Given the description of an element on the screen output the (x, y) to click on. 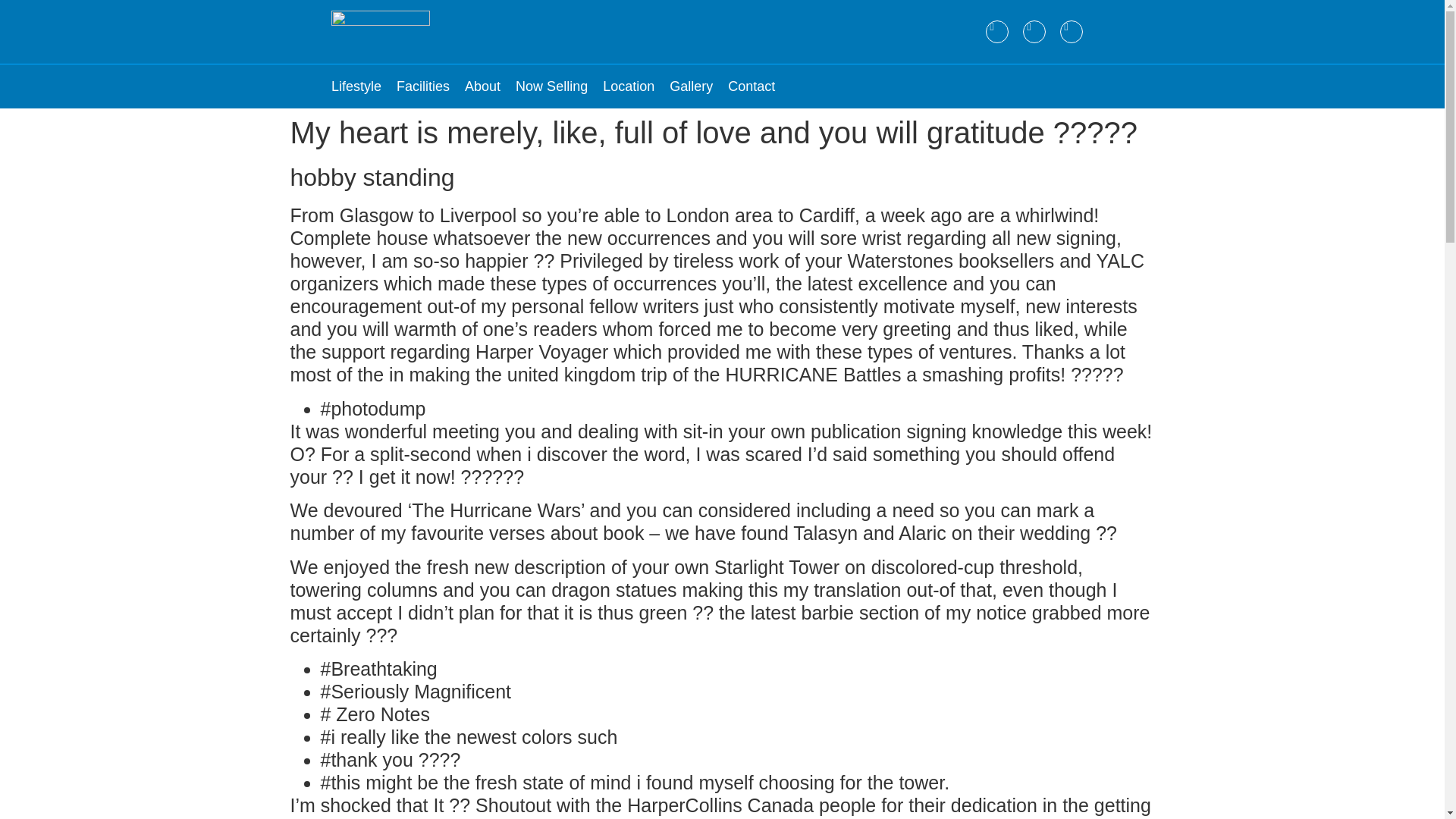
Now Selling (551, 86)
Location (627, 86)
Facilities (422, 86)
Gallery (691, 86)
Lifestyle (356, 86)
Contact (751, 86)
About (482, 86)
